Given the description of an element on the screen output the (x, y) to click on. 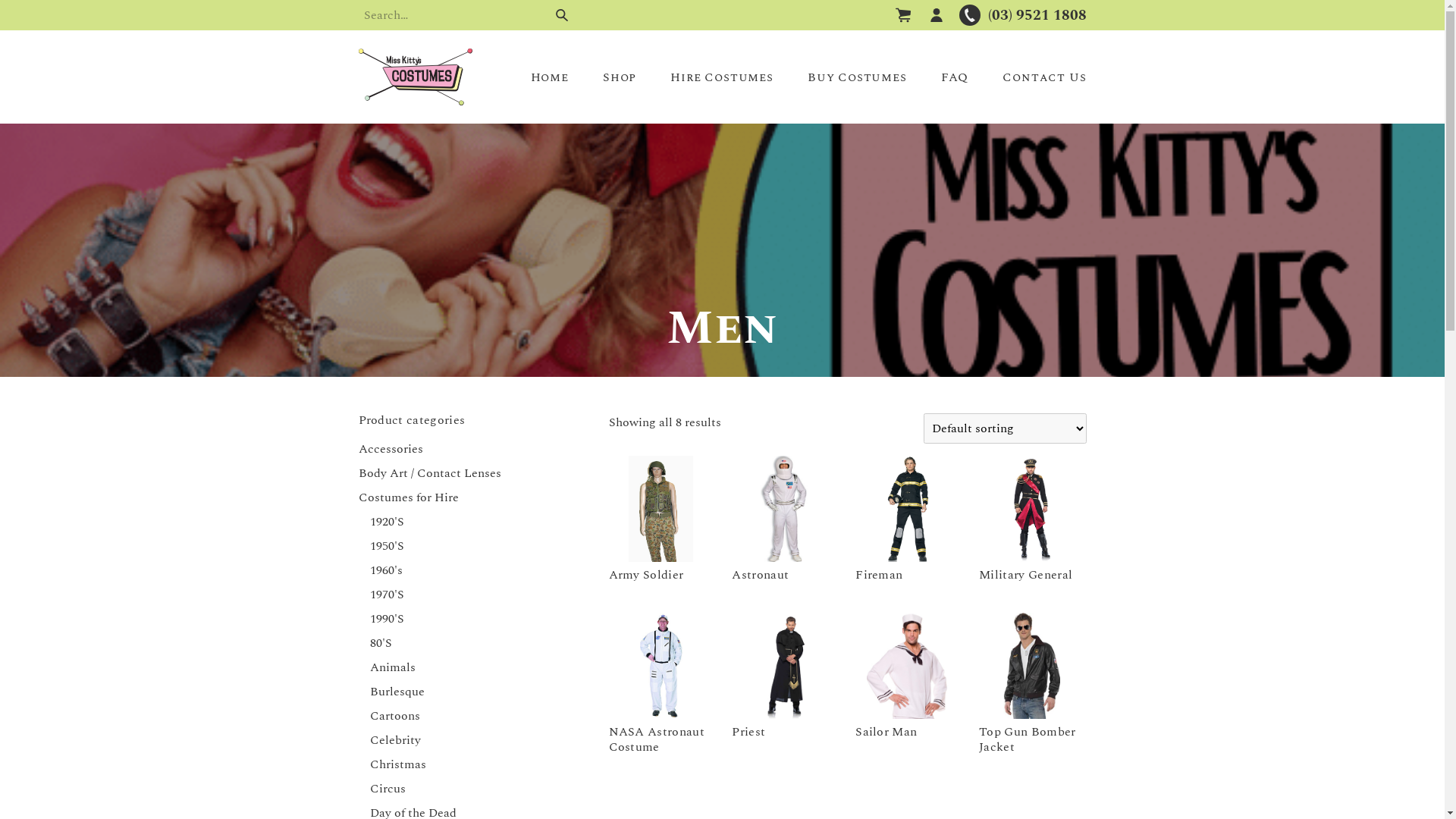
Home Element type: text (549, 77)
FAQ Element type: text (954, 77)
Sailor Man Element type: text (907, 678)
Buy Costumes Element type: text (856, 77)
Cartoons Element type: text (395, 715)
Accessories Element type: text (389, 448)
Christmas Element type: text (398, 764)
Burlesque Element type: text (397, 691)
1960's Element type: text (386, 570)
Search Element type: hover (561, 15)
Fireman Element type: text (907, 521)
Shop Element type: text (619, 77)
Priest Element type: text (784, 678)
1920'S Element type: text (387, 521)
Hire Costumes Element type: text (721, 77)
1950'S Element type: text (387, 545)
Military General Element type: text (1031, 521)
My account Element type: hover (936, 14)
Celebrity Element type: text (395, 740)
Animals Element type: text (392, 667)
View cart (0 items) Element type: hover (902, 14)
Astronaut Element type: text (784, 521)
Circus Element type: text (387, 788)
NASA Astronaut Costume Element type: text (660, 685)
1970'S Element type: text (387, 594)
Contact Us Element type: text (1043, 77)
Body Art / Contact Lenses Element type: text (428, 473)
1990'S Element type: text (387, 618)
Costumes for Hire Element type: text (407, 497)
(03) 9521 1808 Element type: text (1022, 14)
80'S Element type: text (381, 642)
Army Soldier Element type: text (660, 521)
Top Gun Bomber Jacket Element type: text (1031, 685)
